Given the description of an element on the screen output the (x, y) to click on. 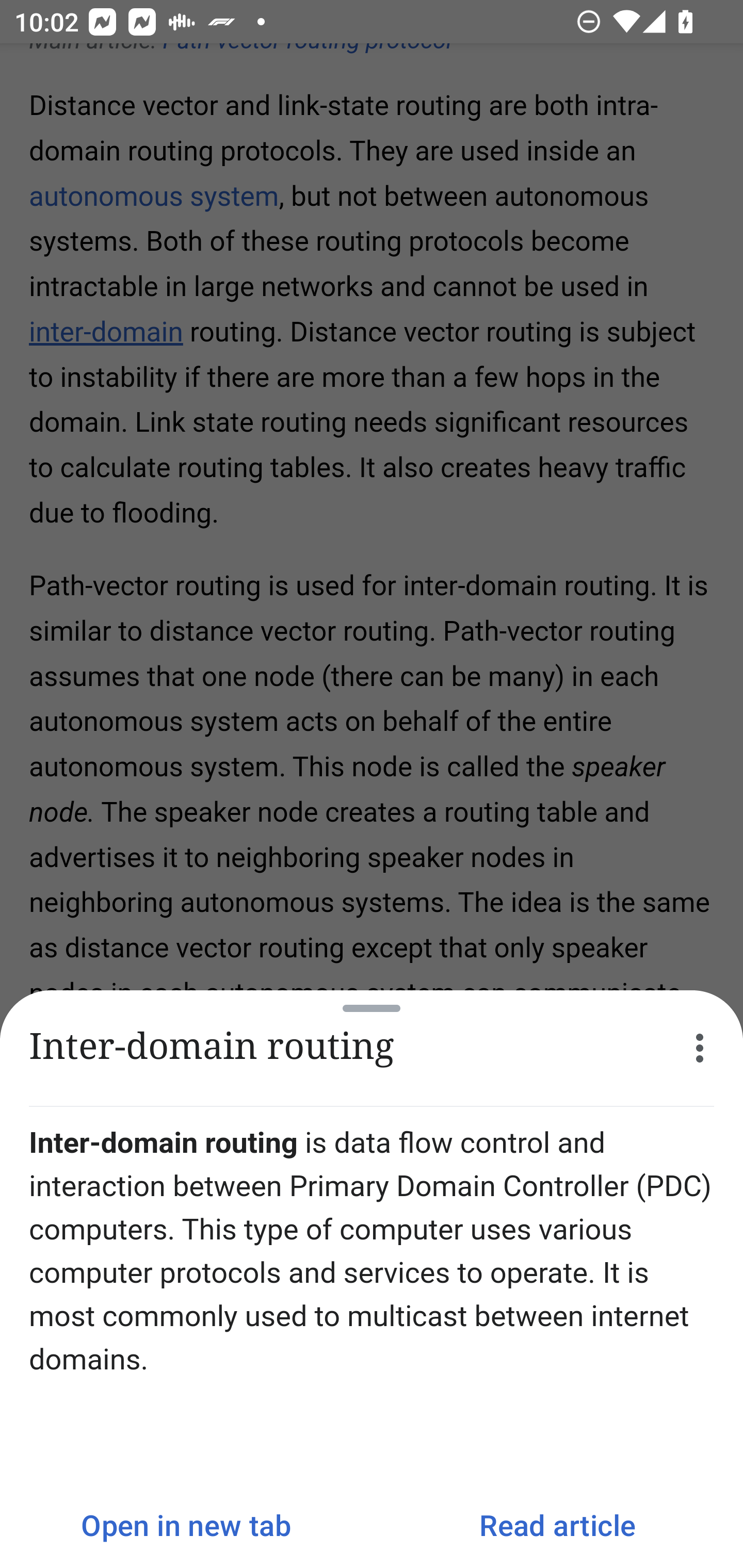
Inter-domain routing More options (371, 1047)
More options (699, 1048)
Open in new tab (185, 1524)
Read article (557, 1524)
